Given the description of an element on the screen output the (x, y) to click on. 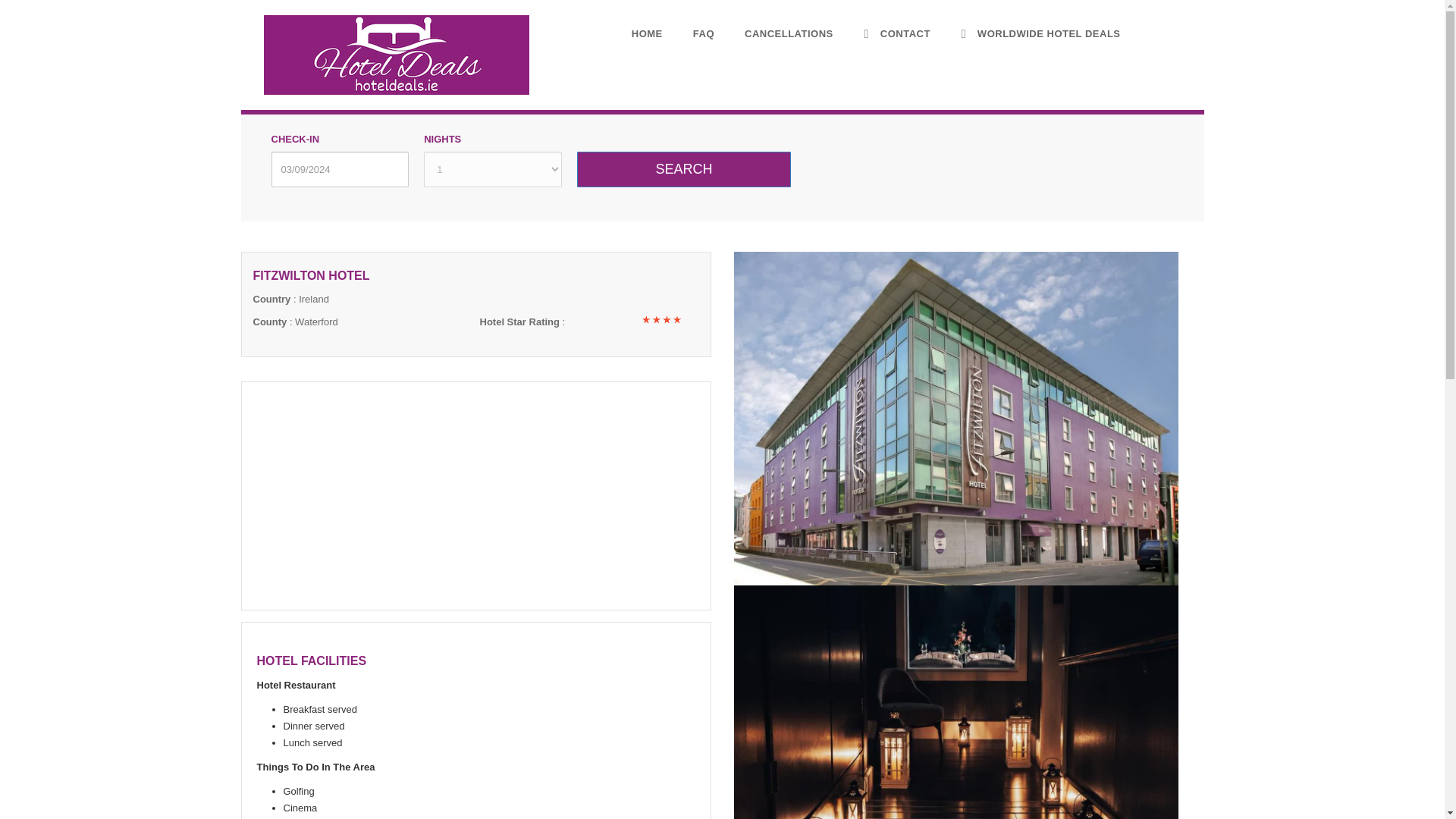
HOME (647, 33)
FAQ (703, 33)
SEARCH (684, 169)
SEARCH (684, 169)
SEARCH (684, 169)
CONTACT (896, 33)
CANCELLATIONS (788, 33)
